Given the description of an element on the screen output the (x, y) to click on. 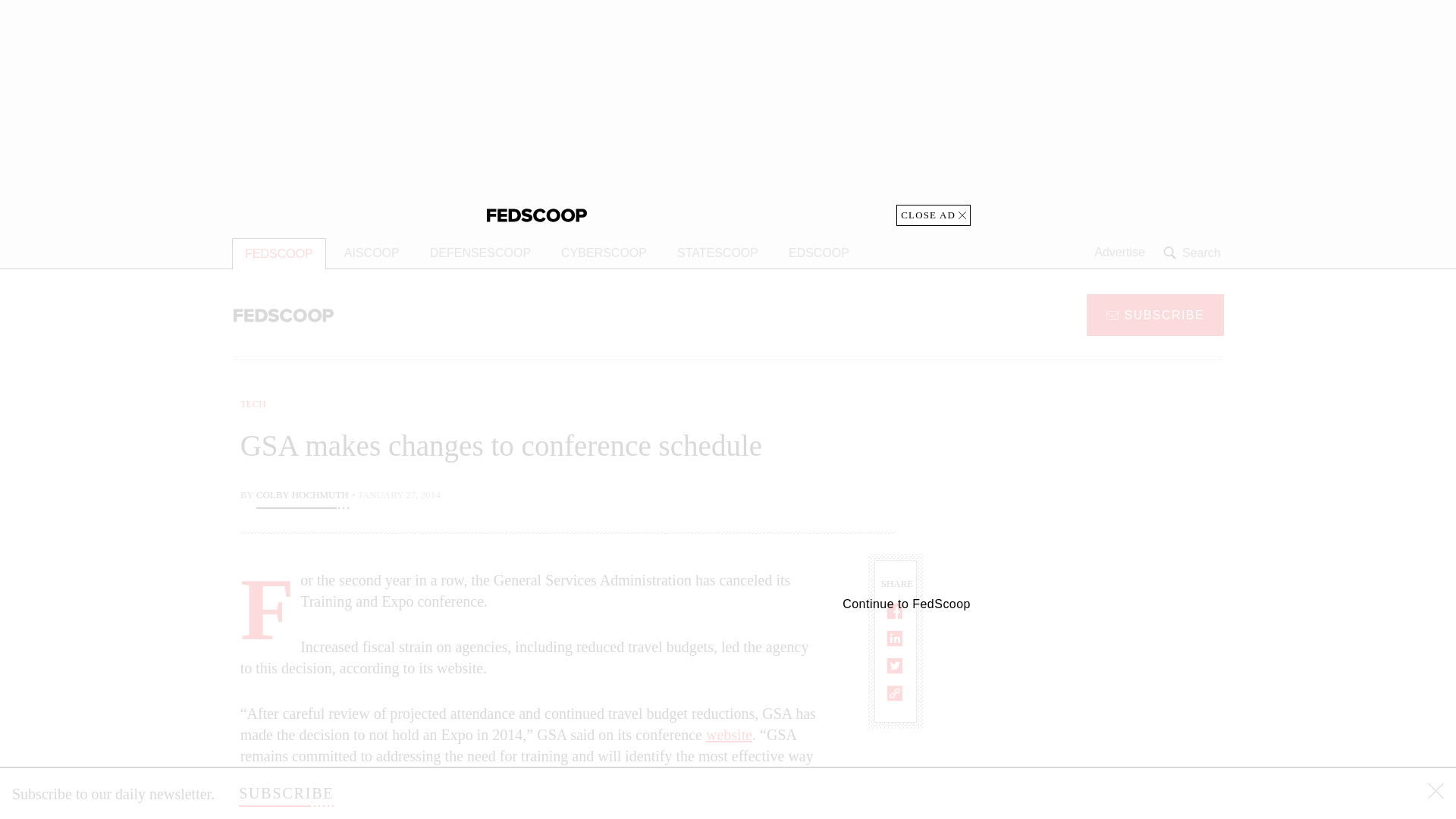
AISCOOP (371, 253)
3rd party ad content (1101, 705)
Colby Hochmuth (302, 496)
TECH (253, 403)
EDSCOOP (818, 253)
COLBY HOCHMUTH (302, 496)
website (729, 734)
Search (1193, 252)
STATESCOOP (717, 253)
SUBSCRIBE (285, 793)
FEDSCOOP (278, 253)
Advertise (1119, 252)
3rd party ad content (1101, 491)
